Given the description of an element on the screen output the (x, y) to click on. 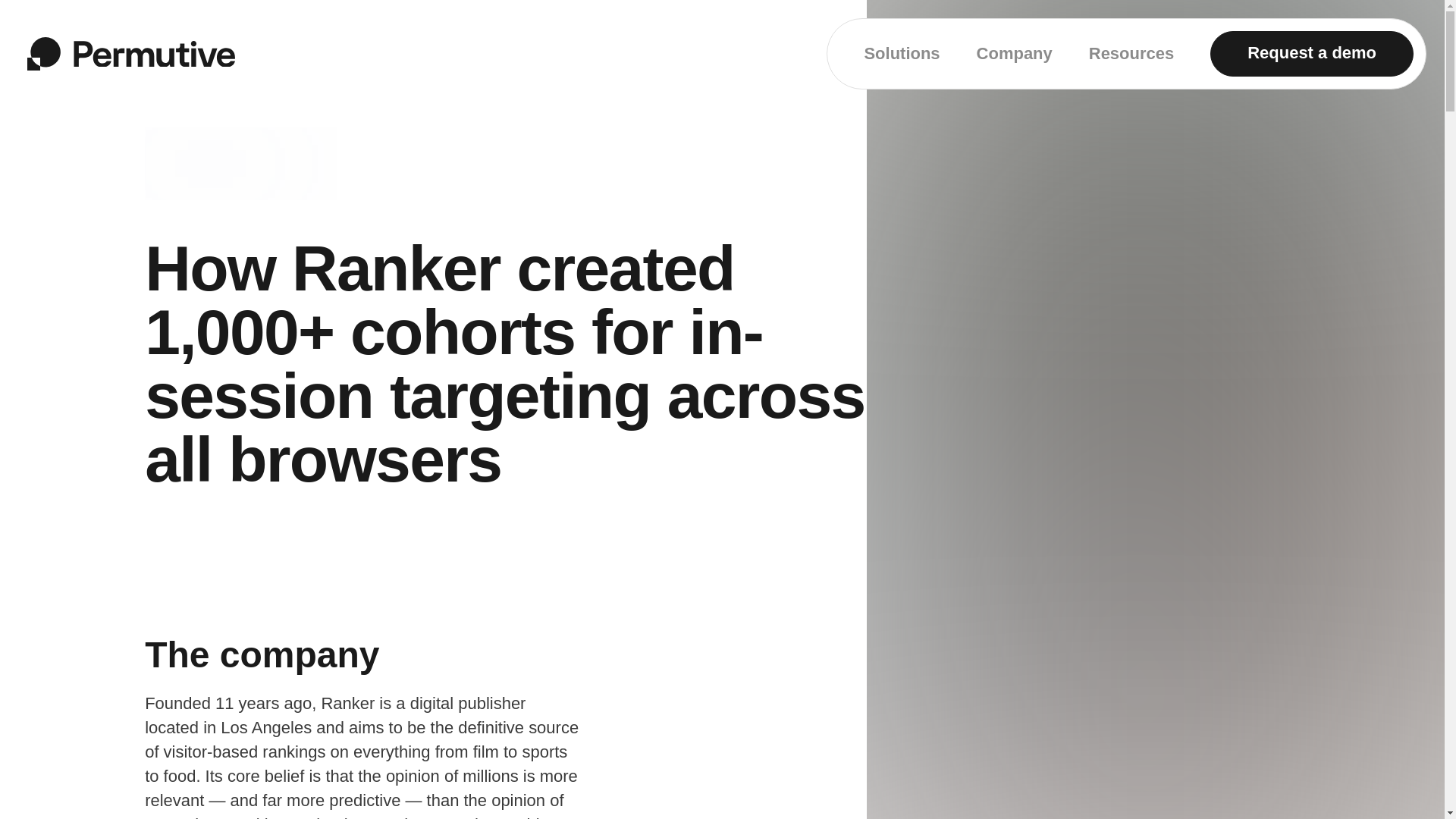
Resources (1131, 53)
Request a demo (1311, 53)
Solutions (901, 53)
Company (1014, 53)
